Given the description of an element on the screen output the (x, y) to click on. 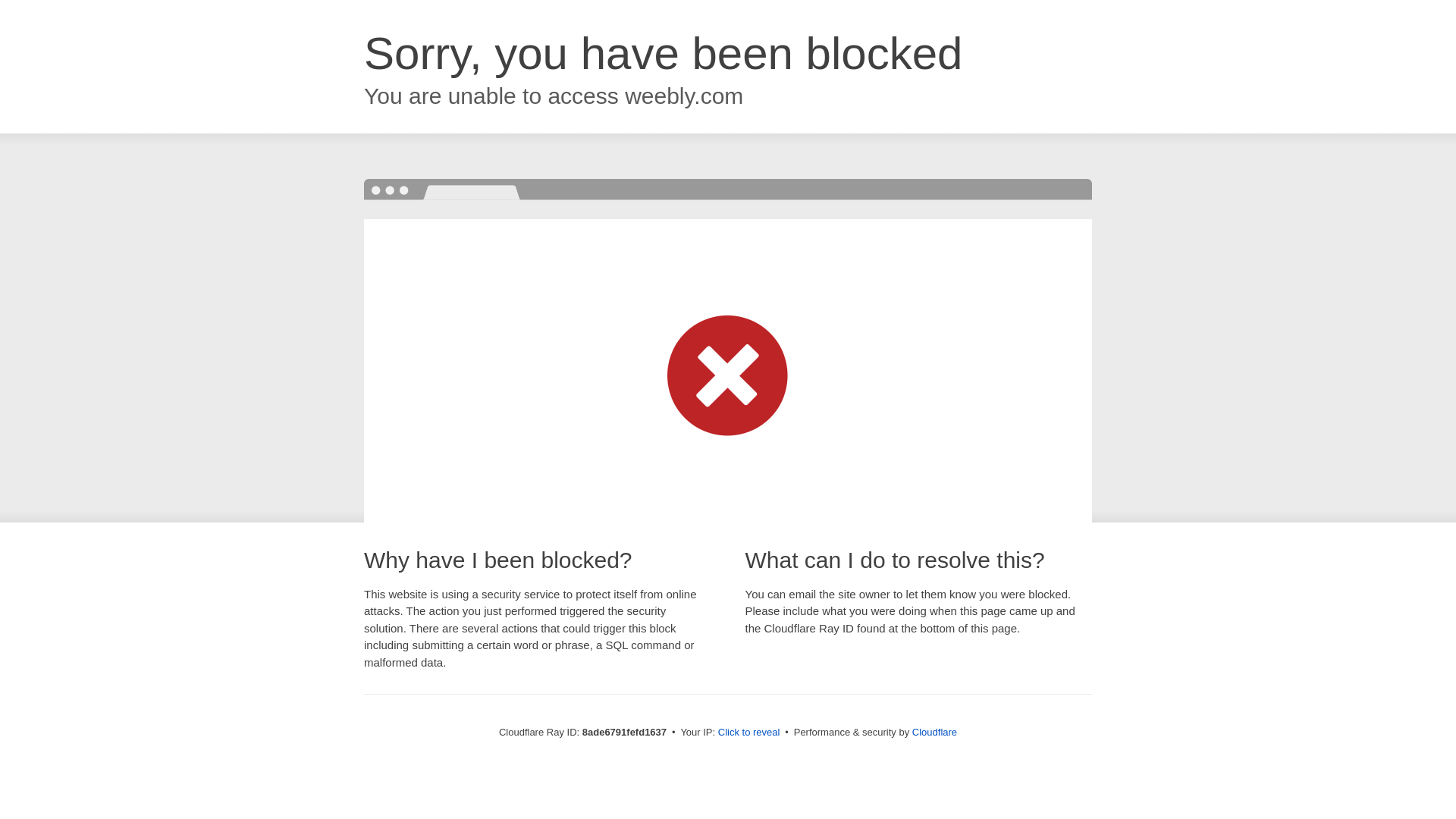
Click to reveal (748, 732)
Cloudflare (934, 731)
